Given the description of an element on the screen output the (x, y) to click on. 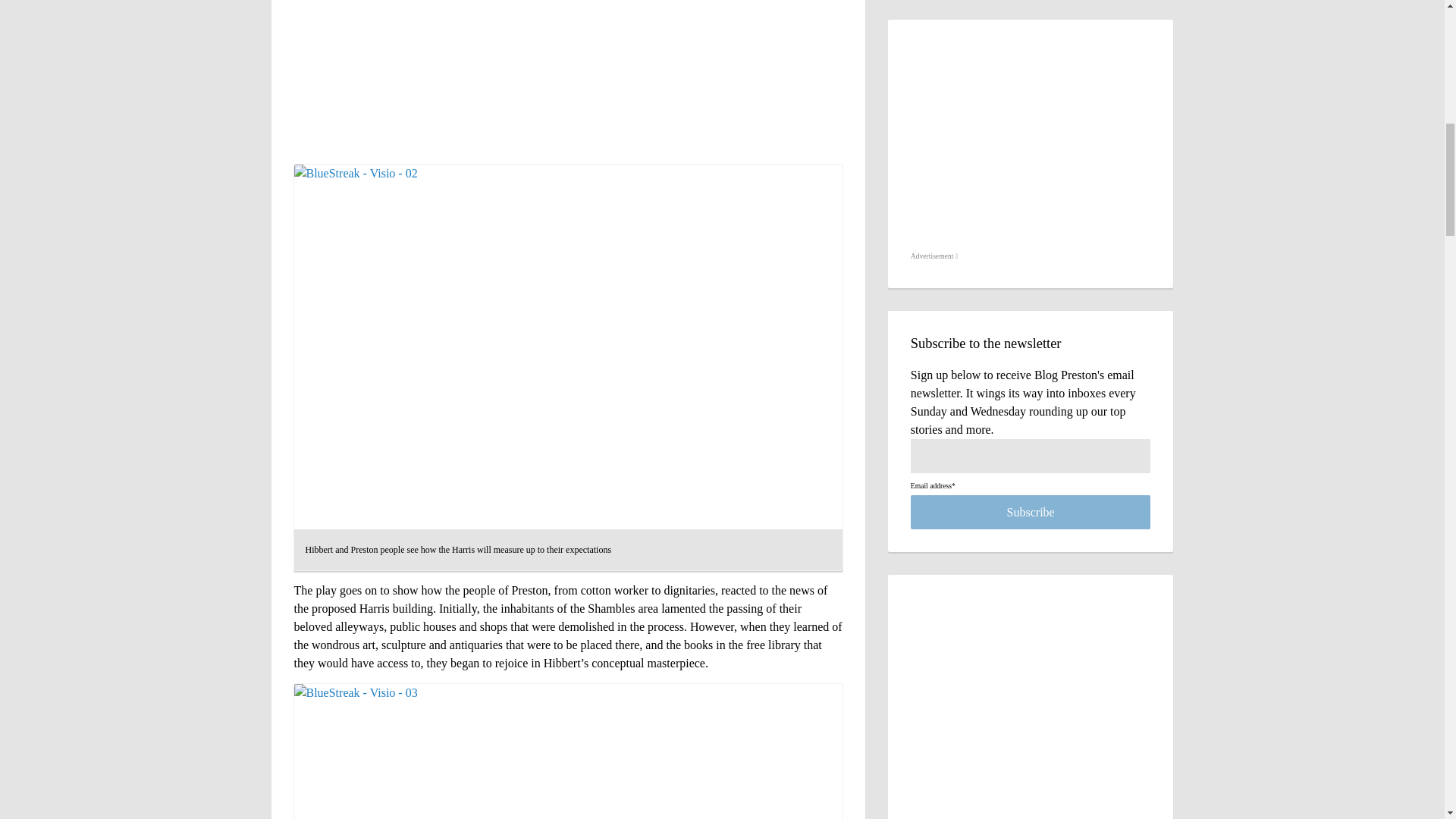
Subscribe (1031, 512)
